Given the description of an element on the screen output the (x, y) to click on. 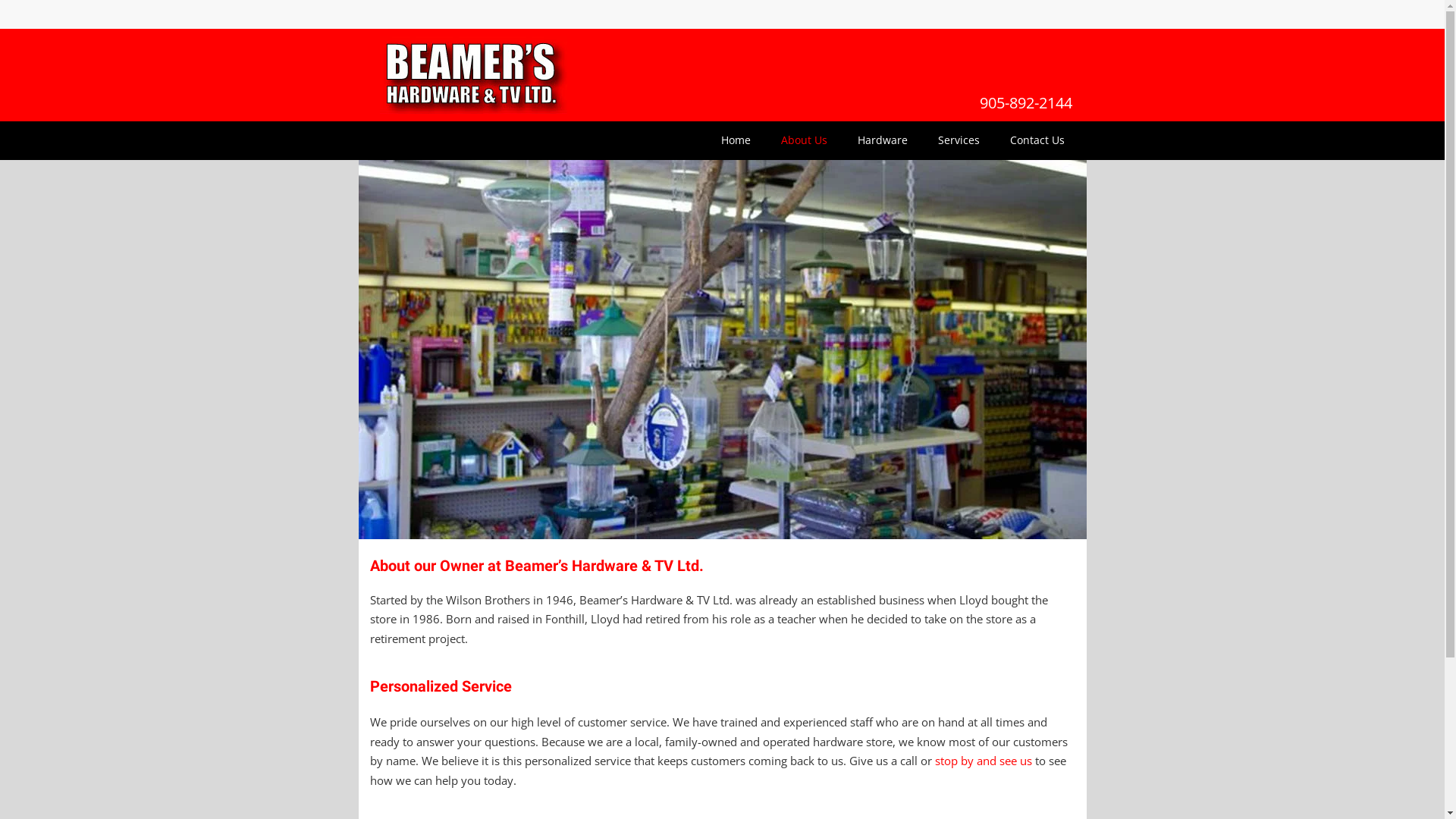
Contact Us Element type: text (1036, 140)
stop by and see us Element type: text (982, 760)
About Us Element type: text (803, 140)
Services Element type: text (958, 140)
Embedded Content Element type: hover (1063, 18)
Home Element type: text (735, 140)
905-892-2144 Element type: text (1025, 102)
Hardware Element type: text (881, 140)
Embedded Content Element type: hover (938, 17)
